Given the description of an element on the screen output the (x, y) to click on. 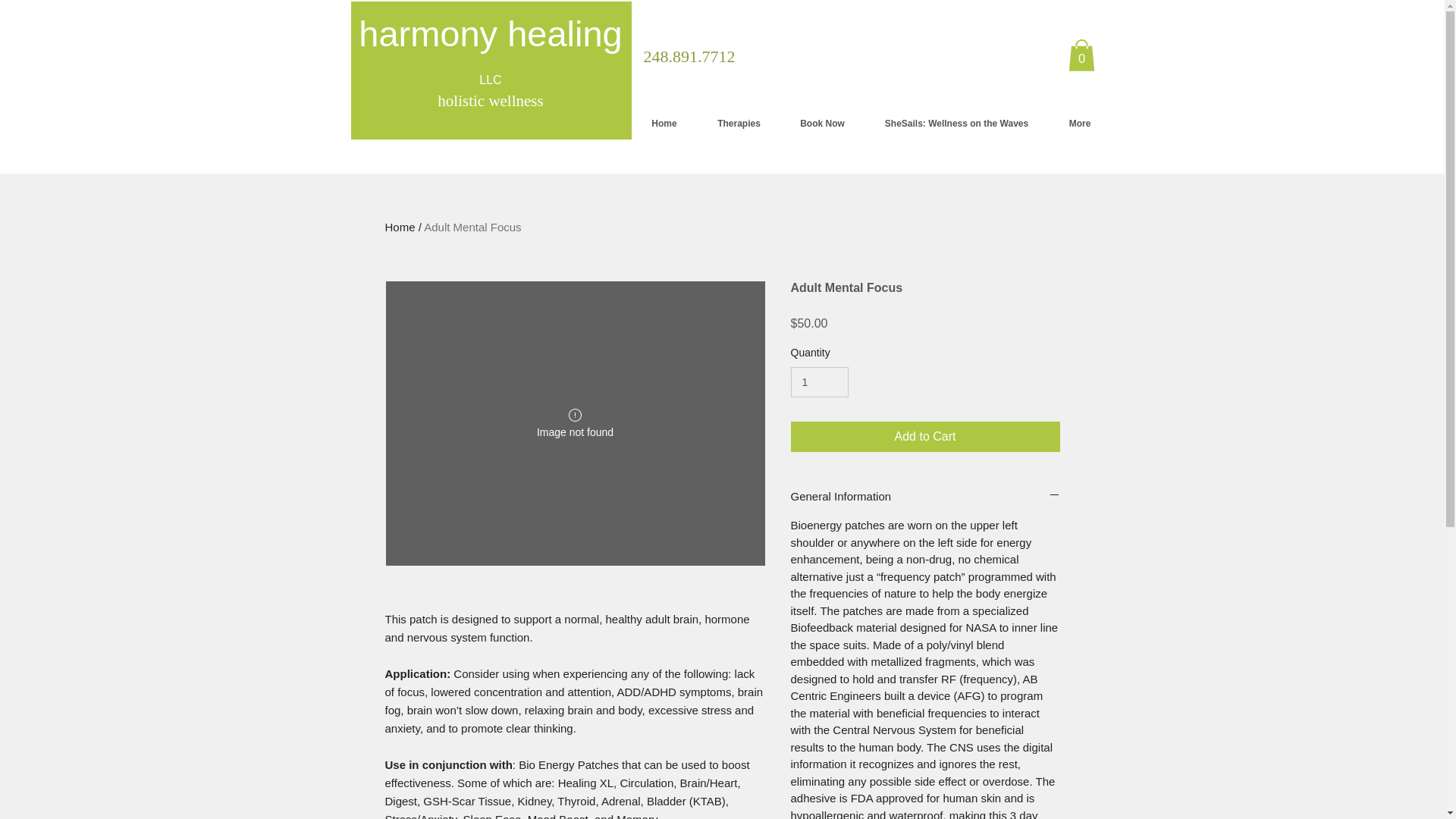
Home (399, 226)
Home (663, 123)
holistic wellness (490, 100)
Add to Cart (924, 436)
SheSails: Wellness on the Waves (956, 123)
Book Now (822, 123)
1 (818, 382)
General Information (924, 496)
harmony healing (490, 33)
LLC (489, 79)
Adult Mental Focus (472, 226)
Therapies (738, 123)
